Given the description of an element on the screen output the (x, y) to click on. 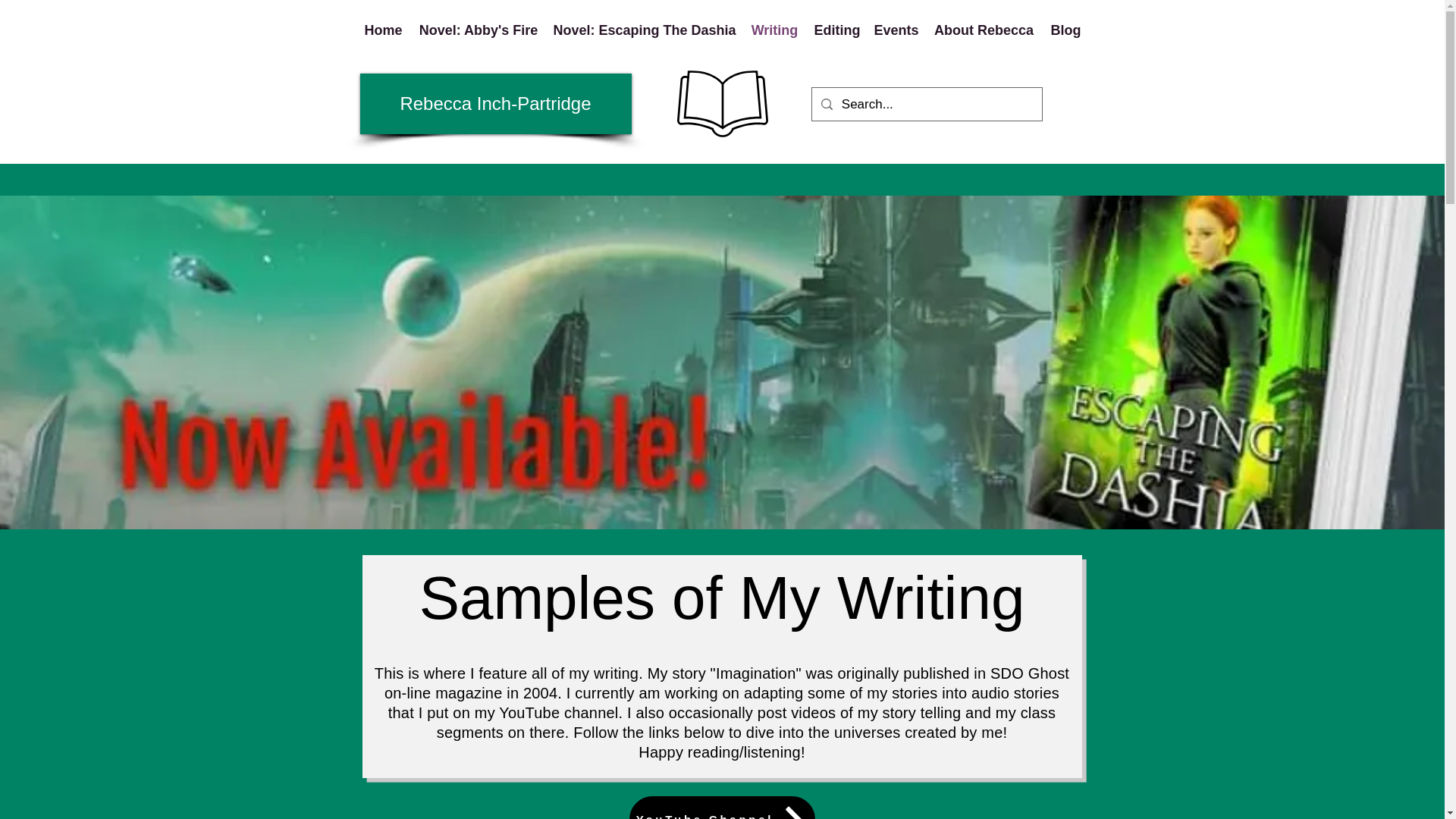
YouTube Channel (721, 807)
Events (895, 30)
Novel: Abby's Fire (477, 30)
Writing (774, 30)
Blog (1065, 30)
Novel: Escaping The Dashia (644, 30)
Rebecca Inch-Partridge (494, 103)
Editing (836, 30)
About Rebecca (983, 30)
Home (382, 30)
